Given the description of an element on the screen output the (x, y) to click on. 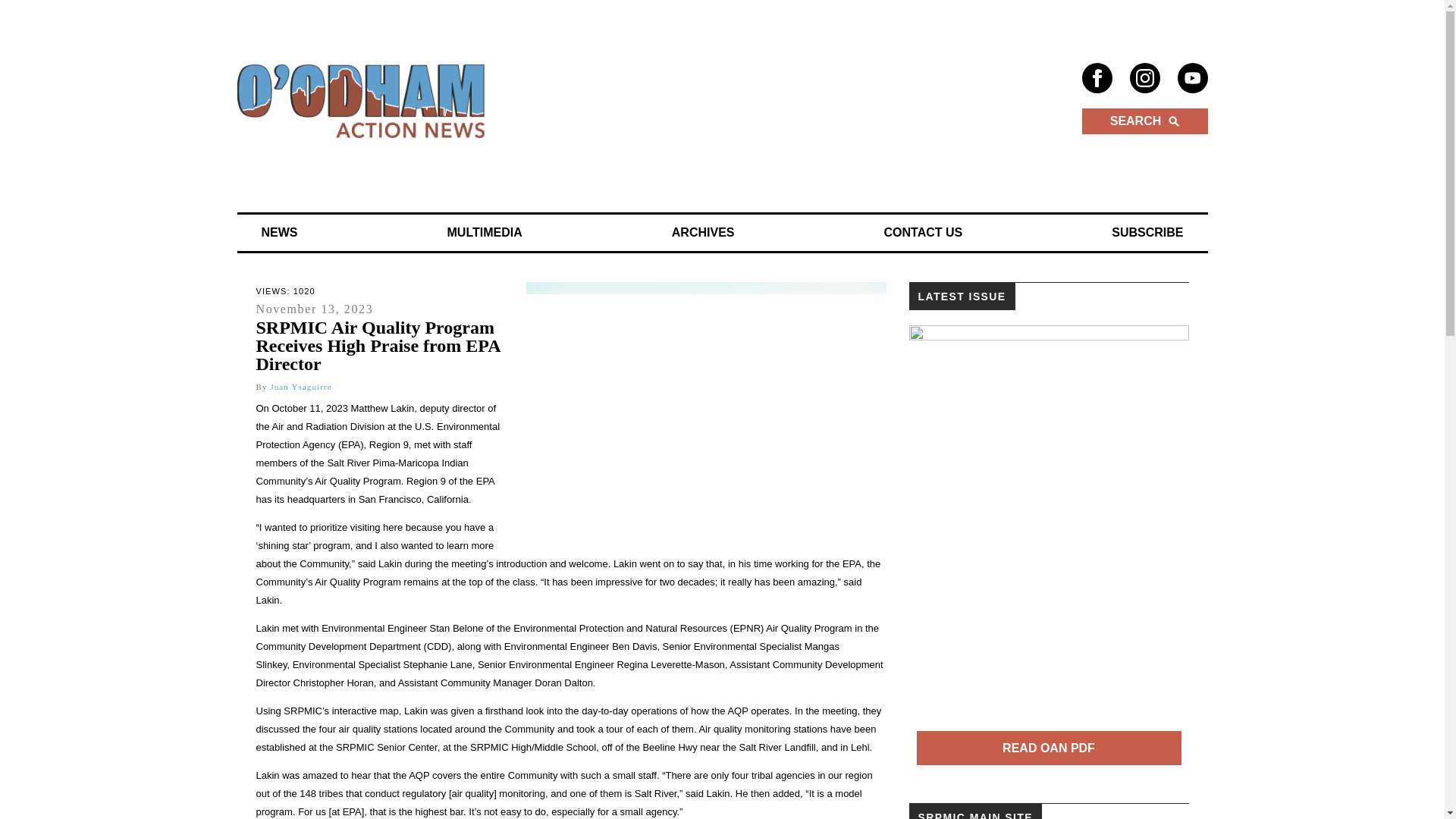
SUBSCRIBE (1147, 232)
CONTACT US (923, 232)
NEWS (278, 232)
MULTIMEDIA (484, 232)
Juan Ysaguirre (300, 386)
READ OAN PDF (1047, 747)
SEARCH (1144, 121)
Posts by Juan Ysaguirre (300, 386)
ARCHIVES (702, 232)
